Given the description of an element on the screen output the (x, y) to click on. 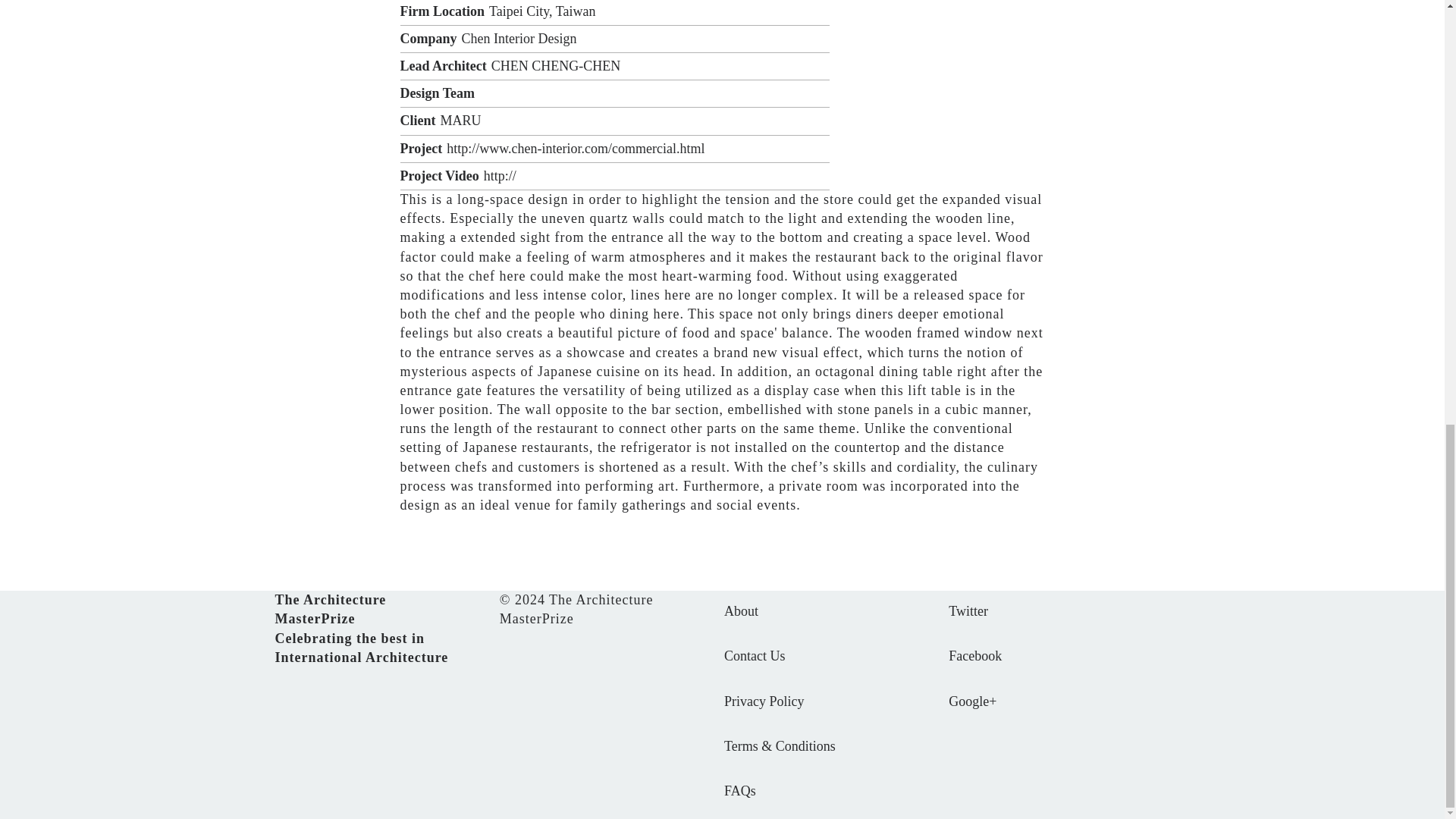
Facebook (975, 655)
About (740, 611)
Privacy Policy (764, 701)
Contact Us (754, 655)
Twitter (968, 611)
FAQs (739, 790)
